Given the description of an element on the screen output the (x, y) to click on. 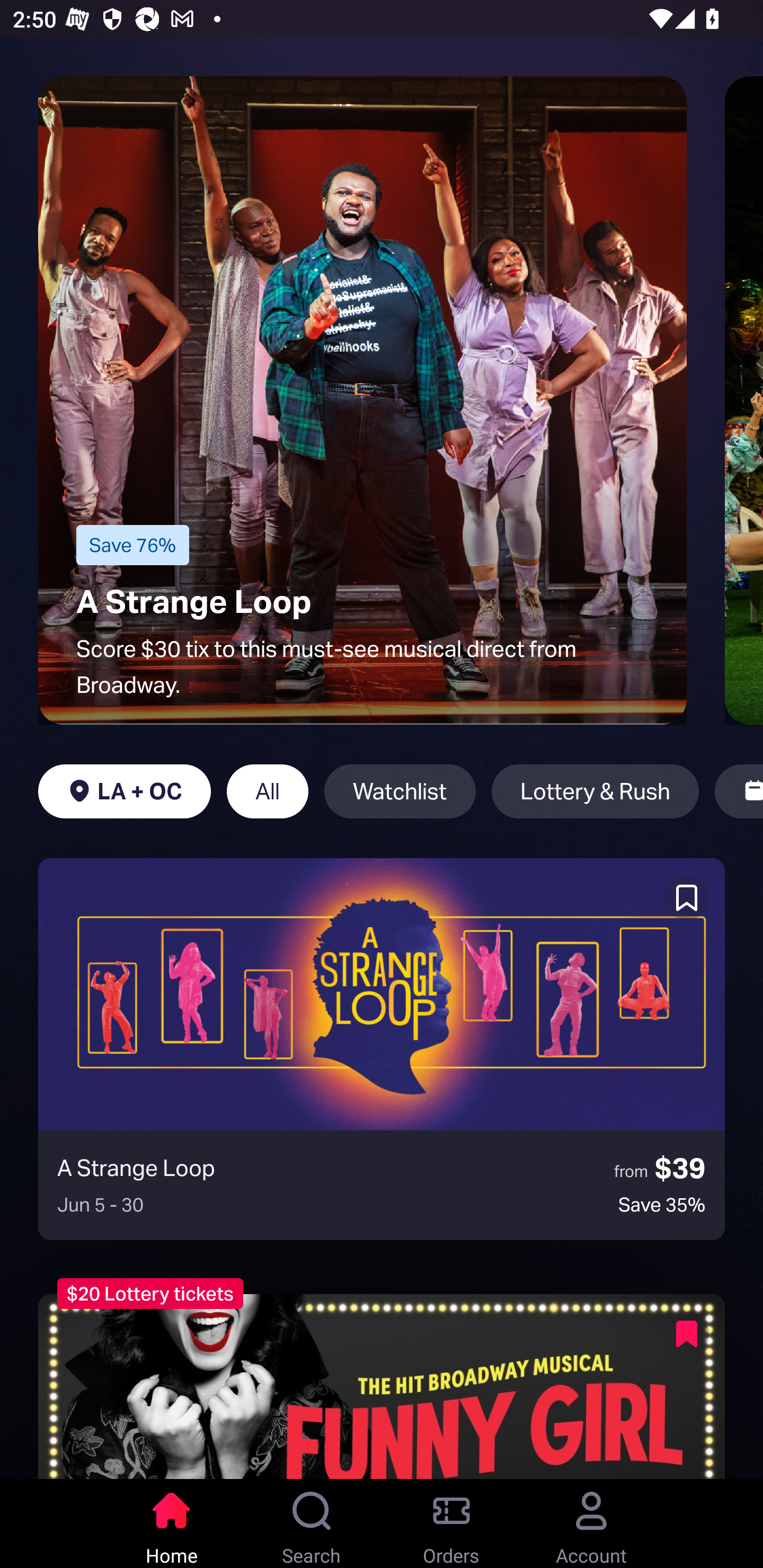
LA + OC (124, 791)
All (267, 791)
Watchlist (400, 791)
Lottery & Rush (594, 791)
A Strange Loop from $39 Jun 5 - 30 Save 35% (381, 1048)
Search (311, 1523)
Orders (451, 1523)
Account (591, 1523)
